Given the description of an element on the screen output the (x, y) to click on. 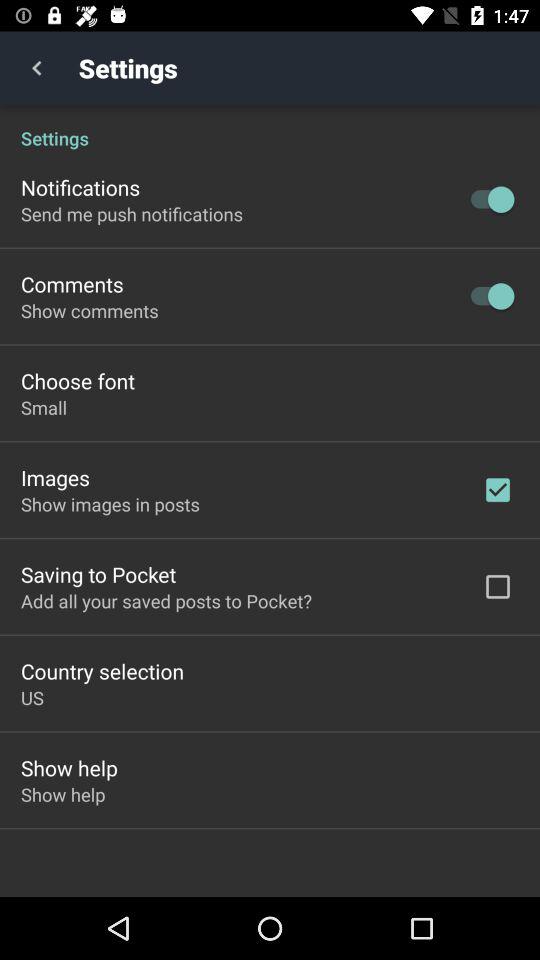
press small (44, 407)
